Given the description of an element on the screen output the (x, y) to click on. 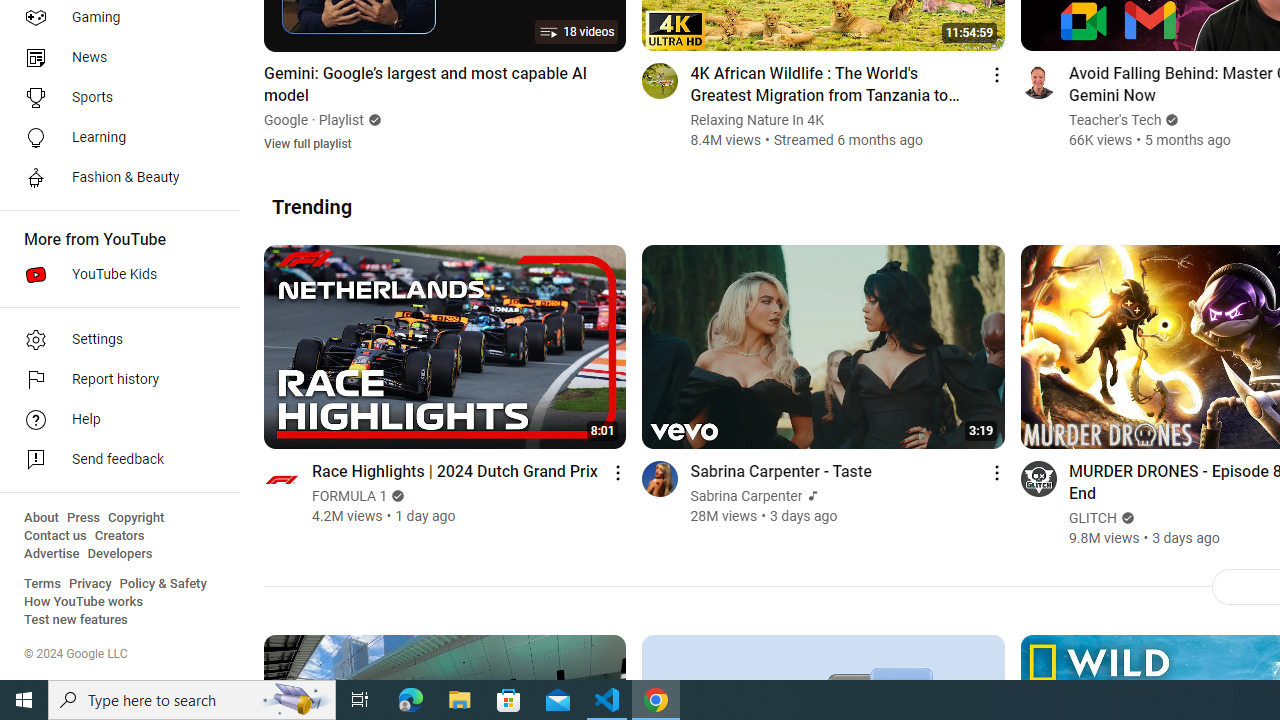
YouTube Kids (113, 274)
Relaxing Nature In 4K (757, 120)
About (41, 518)
View full playlist (307, 142)
Official Artist Channel (811, 495)
Sports (113, 97)
Go to channel (1038, 478)
